Given the description of an element on the screen output the (x, y) to click on. 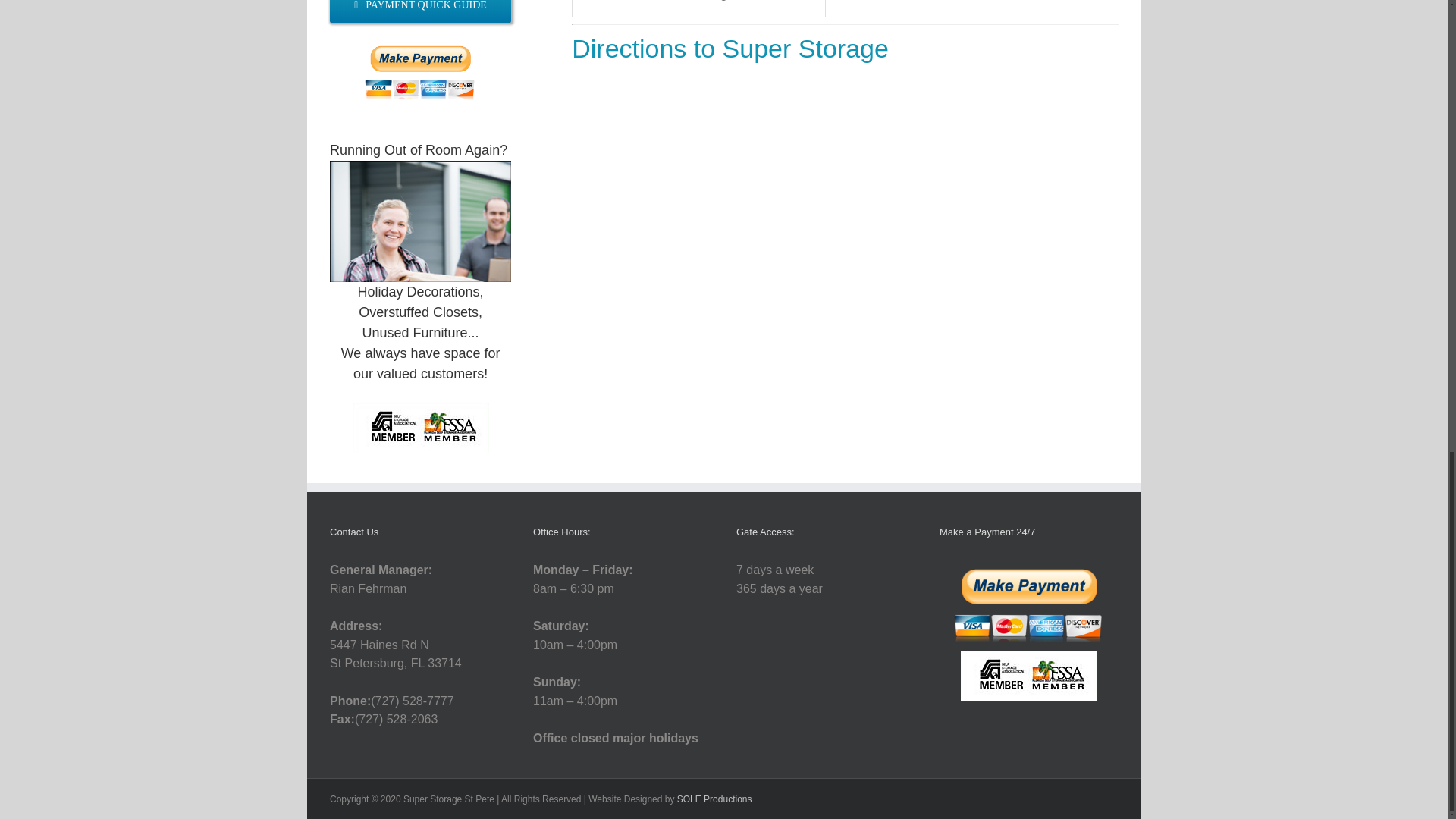
SOLE Productions (714, 798)
PAYMENT QUICK GUIDE (420, 10)
